Given the description of an element on the screen output the (x, y) to click on. 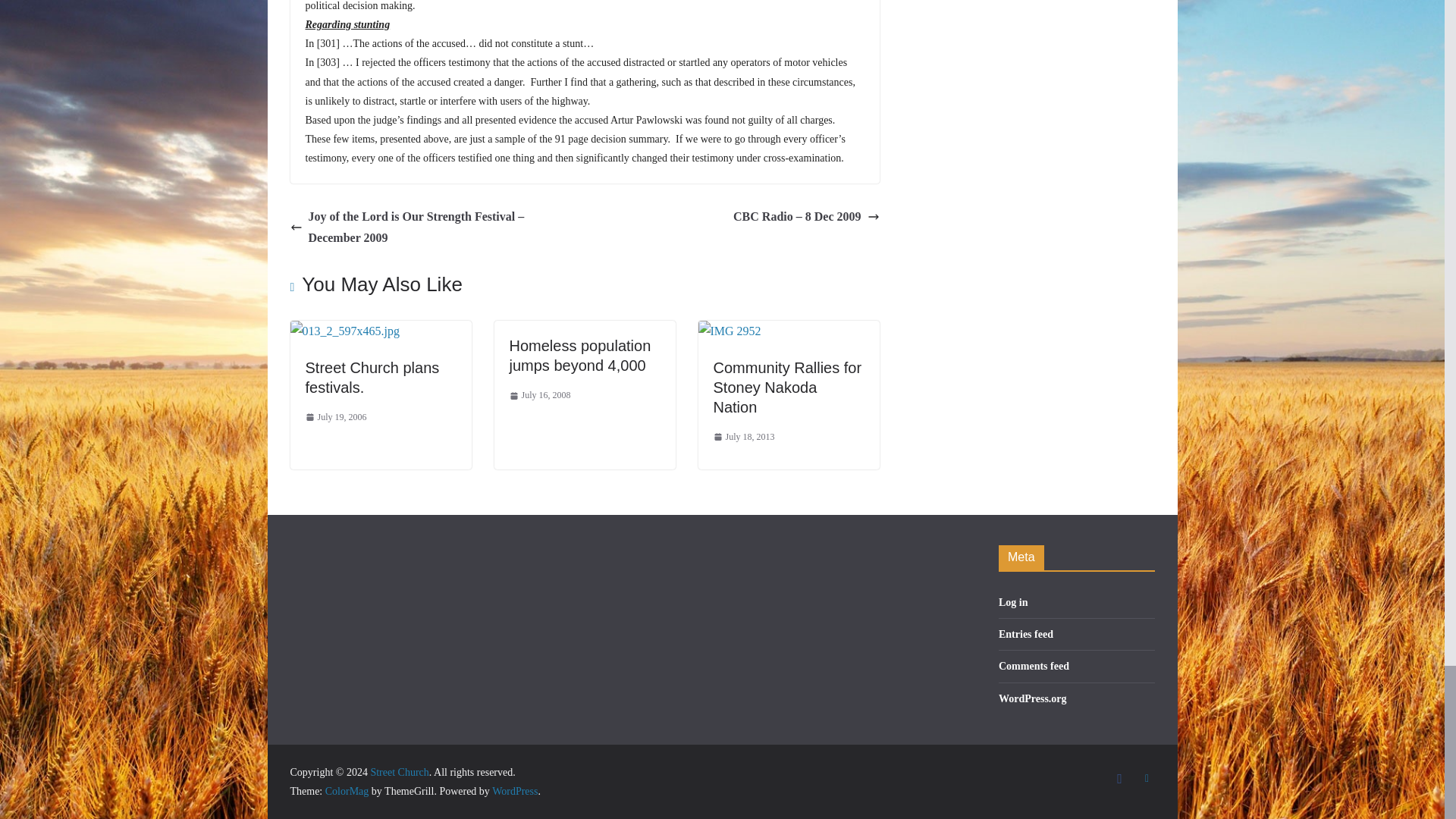
Street Church plans festivals. (343, 330)
Homeless population jumps beyond 4,000 (579, 355)
Homeless population jumps beyond 4,000 (579, 355)
9:25 am (539, 395)
Community Rallies for Stoney Nakoda Nation (787, 387)
Street Church plans festivals. (371, 377)
Community Rallies for Stoney Nakoda Nation (728, 330)
July 19, 2006 (335, 417)
2:00 am (335, 417)
July 18, 2013 (743, 437)
